Given the description of an element on the screen output the (x, y) to click on. 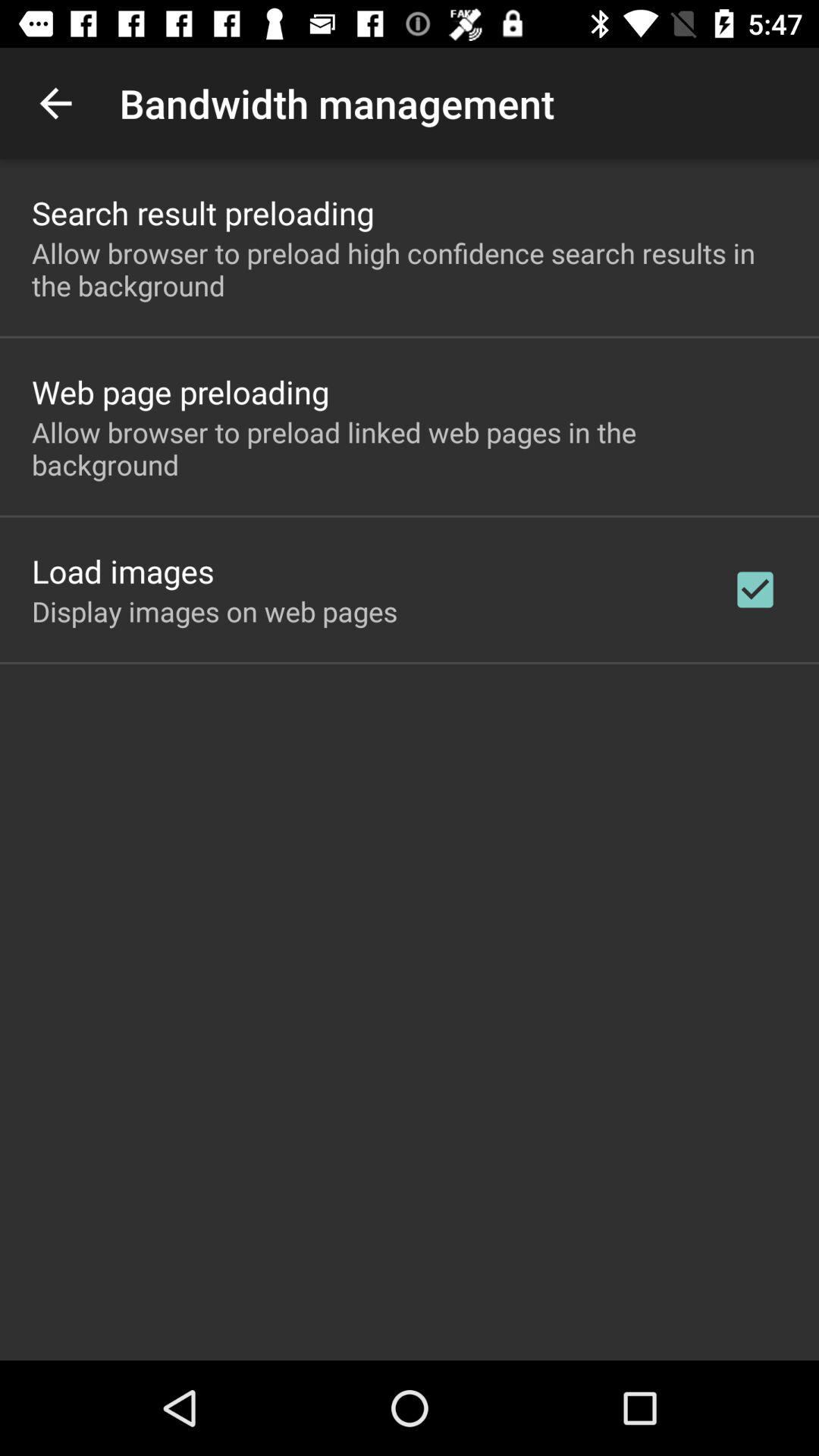
open app below the allow browser to app (755, 589)
